Given the description of an element on the screen output the (x, y) to click on. 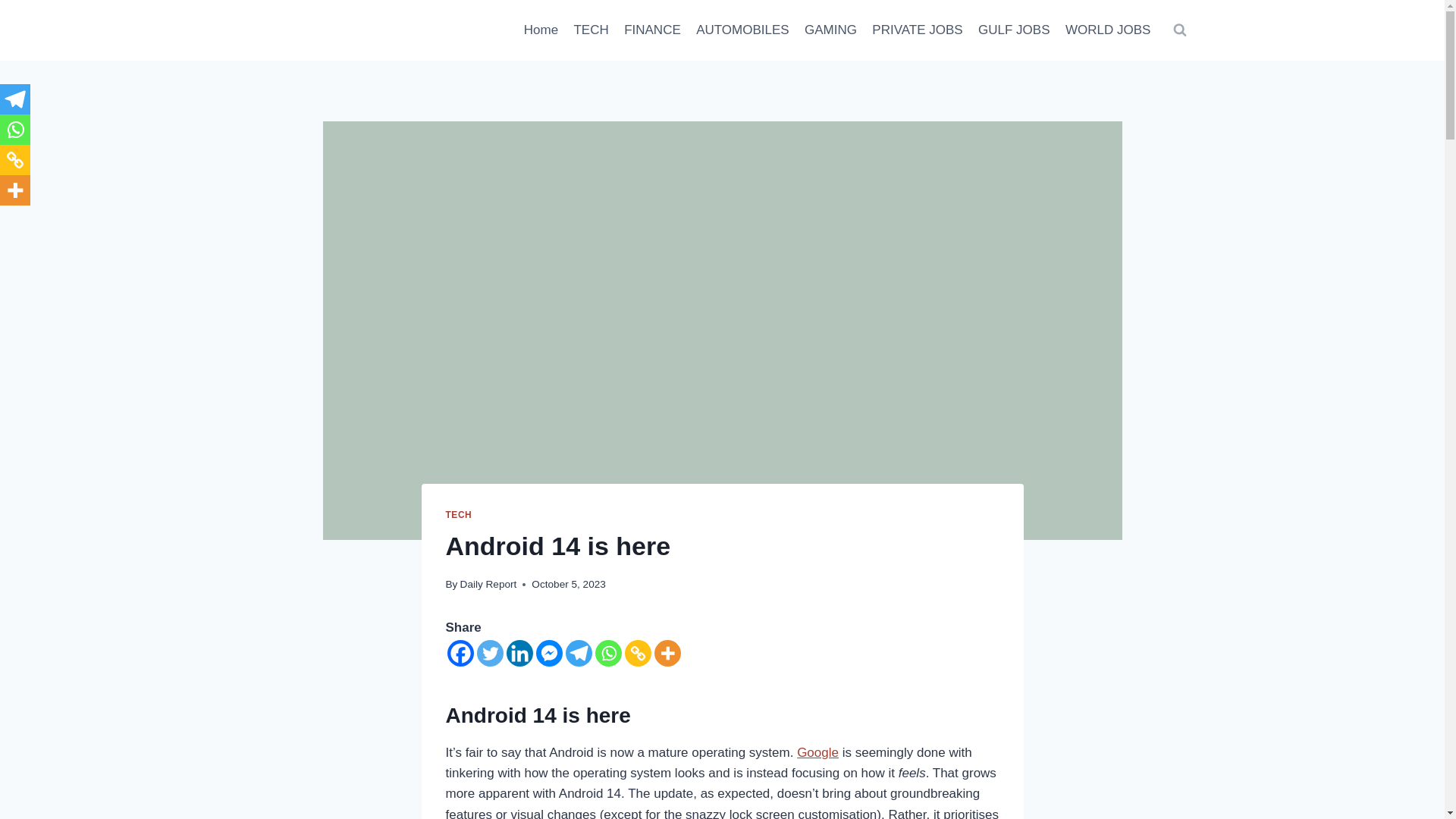
GULF JOBS (1014, 30)
Copy Link (637, 652)
More (666, 652)
TECH (590, 30)
Whatsapp (607, 652)
WORLD JOBS (1108, 30)
Google (817, 752)
Facebook (460, 652)
PRIVATE JOBS (917, 30)
Whatsapp (15, 129)
Telegram (579, 652)
Linkedin (519, 652)
FINANCE (651, 30)
GAMING (830, 30)
AUTOMOBILES (742, 30)
